Given the description of an element on the screen output the (x, y) to click on. 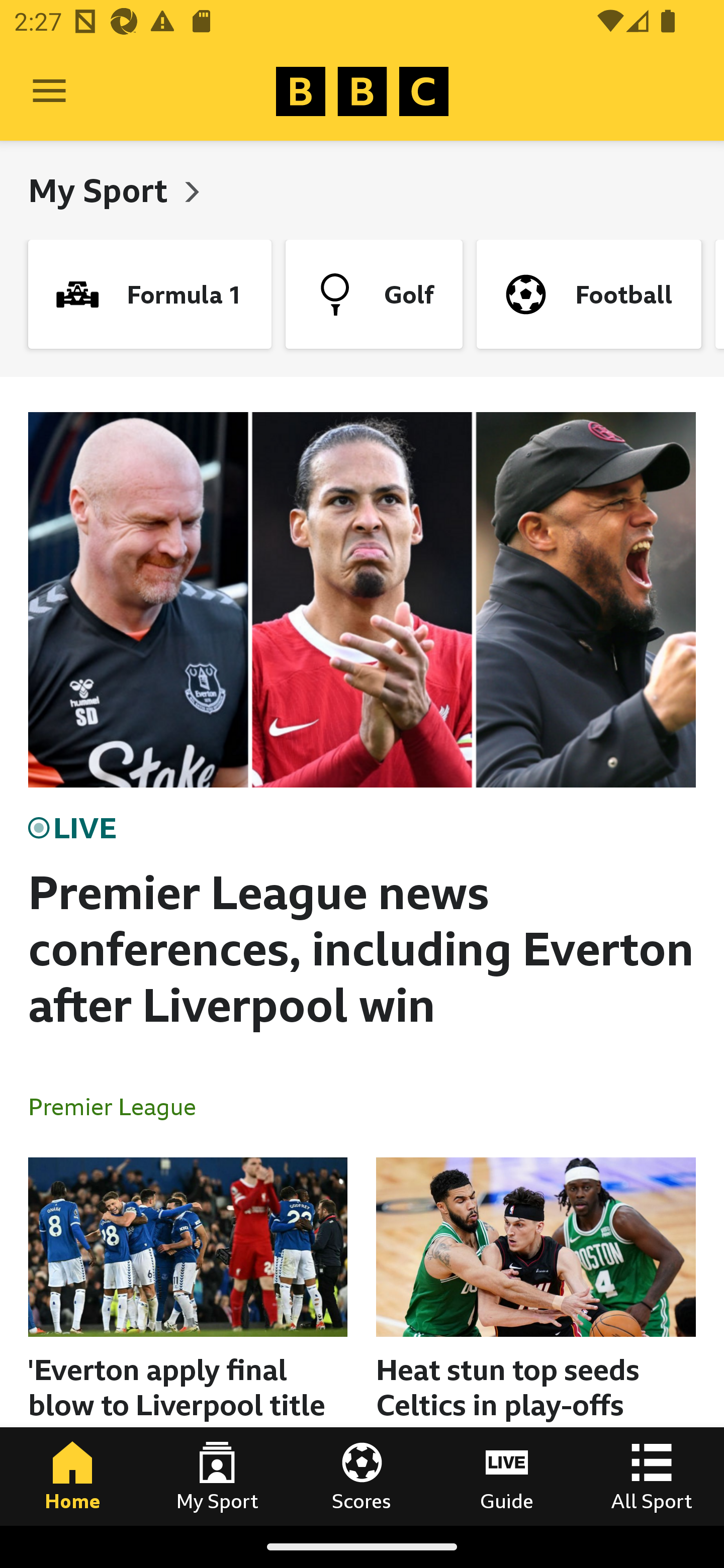
Open Menu (49, 91)
My Sport (101, 190)
Premier League In the section Premier League (119, 1106)
My Sport (216, 1475)
Scores (361, 1475)
Guide (506, 1475)
All Sport (651, 1475)
